Given the description of an element on the screen output the (x, y) to click on. 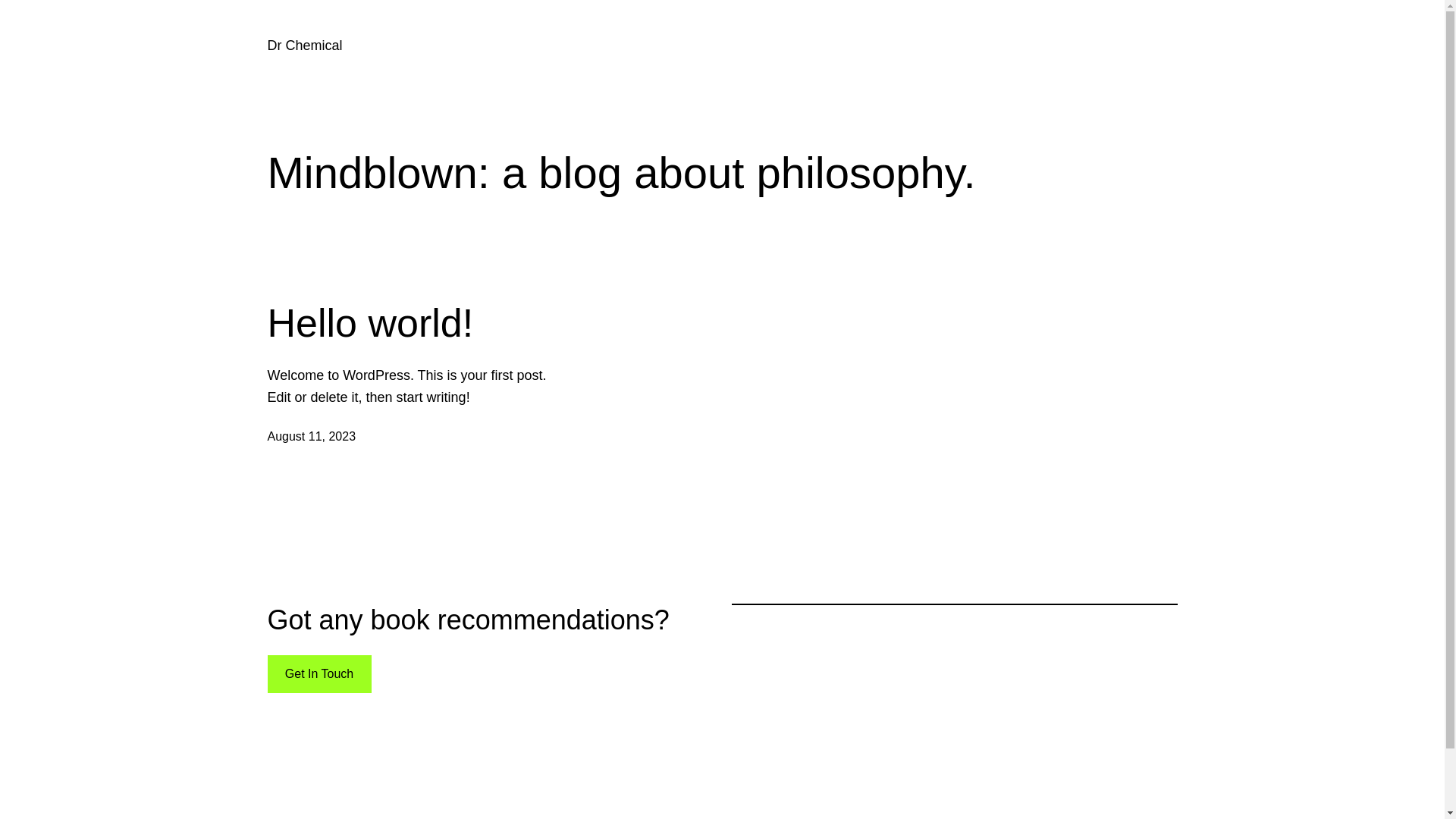
Dr Chemical Element type: text (304, 45)
Get In Touch Element type: text (318, 674)
August 11, 2023 Element type: text (310, 435)
Hello world! Element type: text (369, 322)
